Given the description of an element on the screen output the (x, y) to click on. 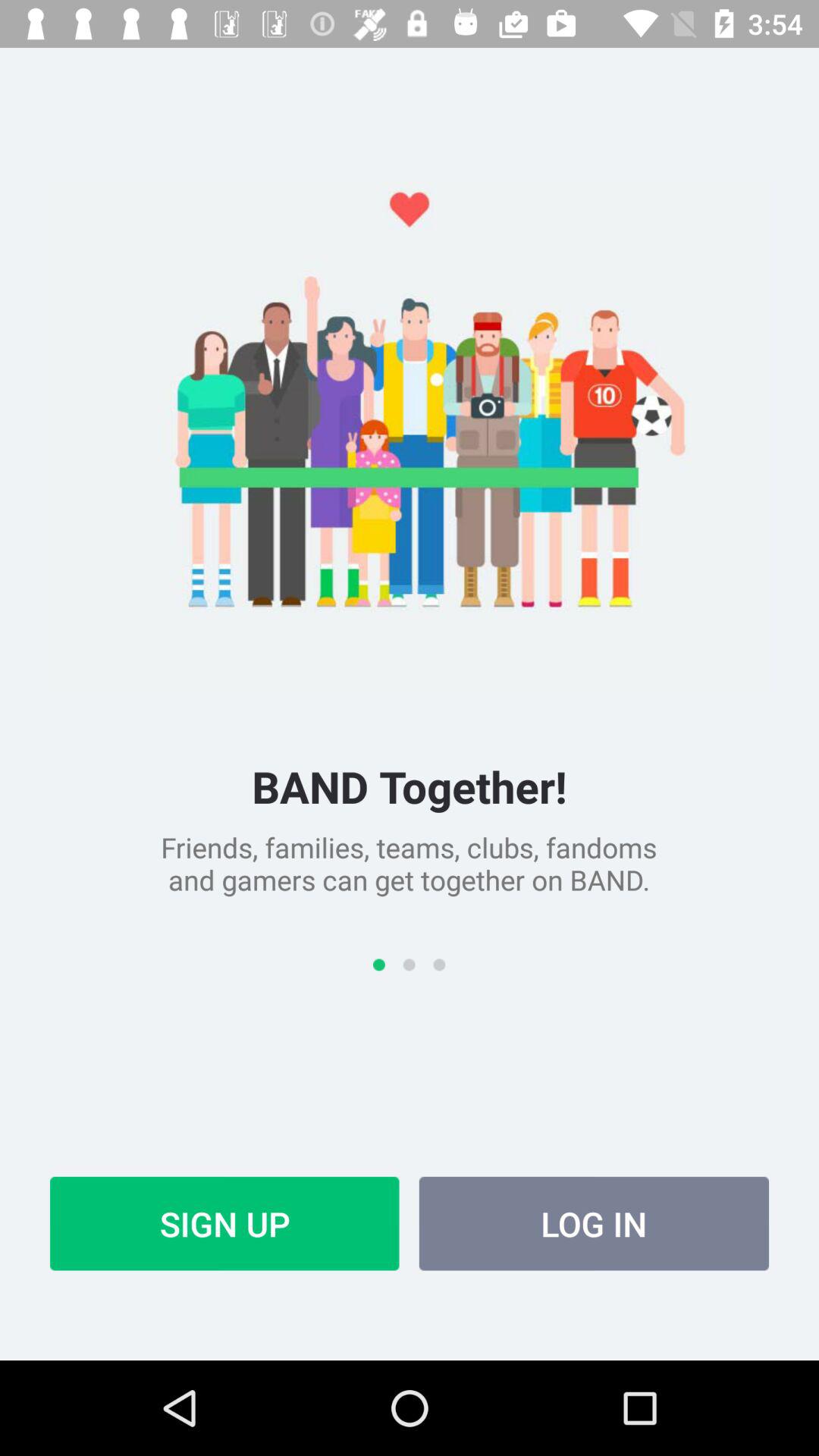
jump to the log in icon (593, 1223)
